Given the description of an element on the screen output the (x, y) to click on. 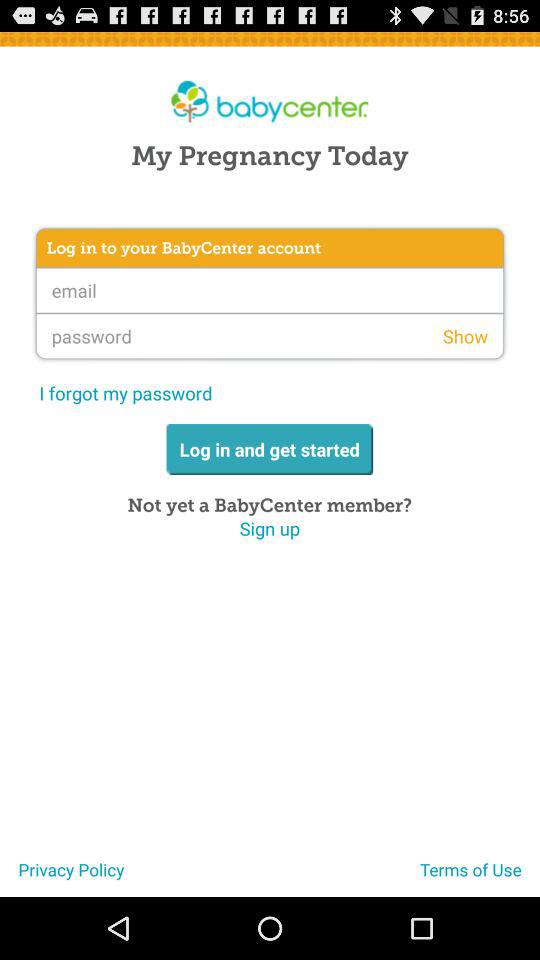
insert email (270, 290)
